Given the description of an element on the screen output the (x, y) to click on. 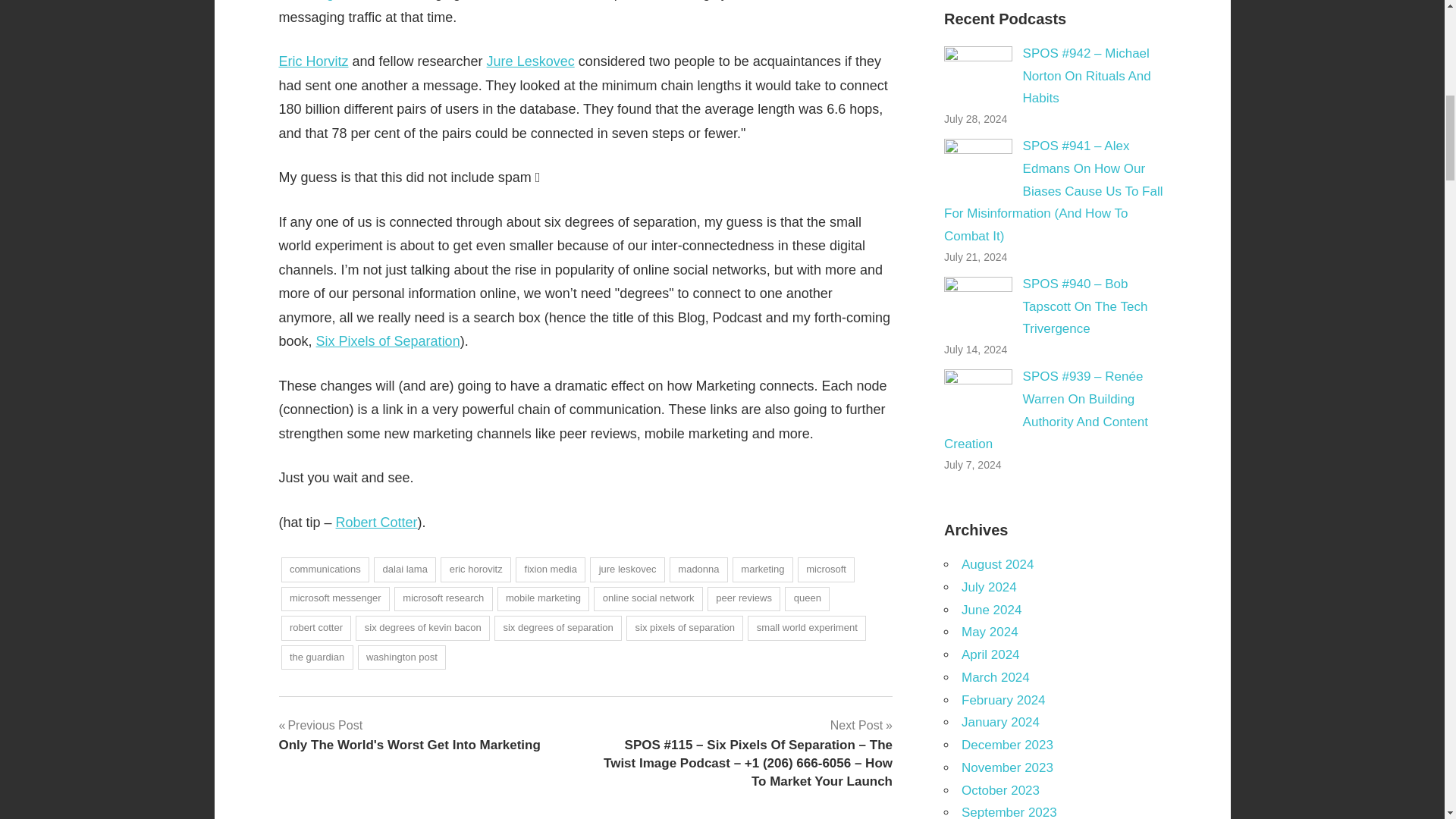
eric horovitz (476, 569)
Eric Horvitz (314, 61)
communications (325, 569)
fixion media (550, 569)
Jure Leskovec (530, 61)
Robert Cotter (376, 522)
dalai lama (404, 569)
Six Pixels of Separation (387, 340)
jure leskovec (627, 569)
